Given the description of an element on the screen output the (x, y) to click on. 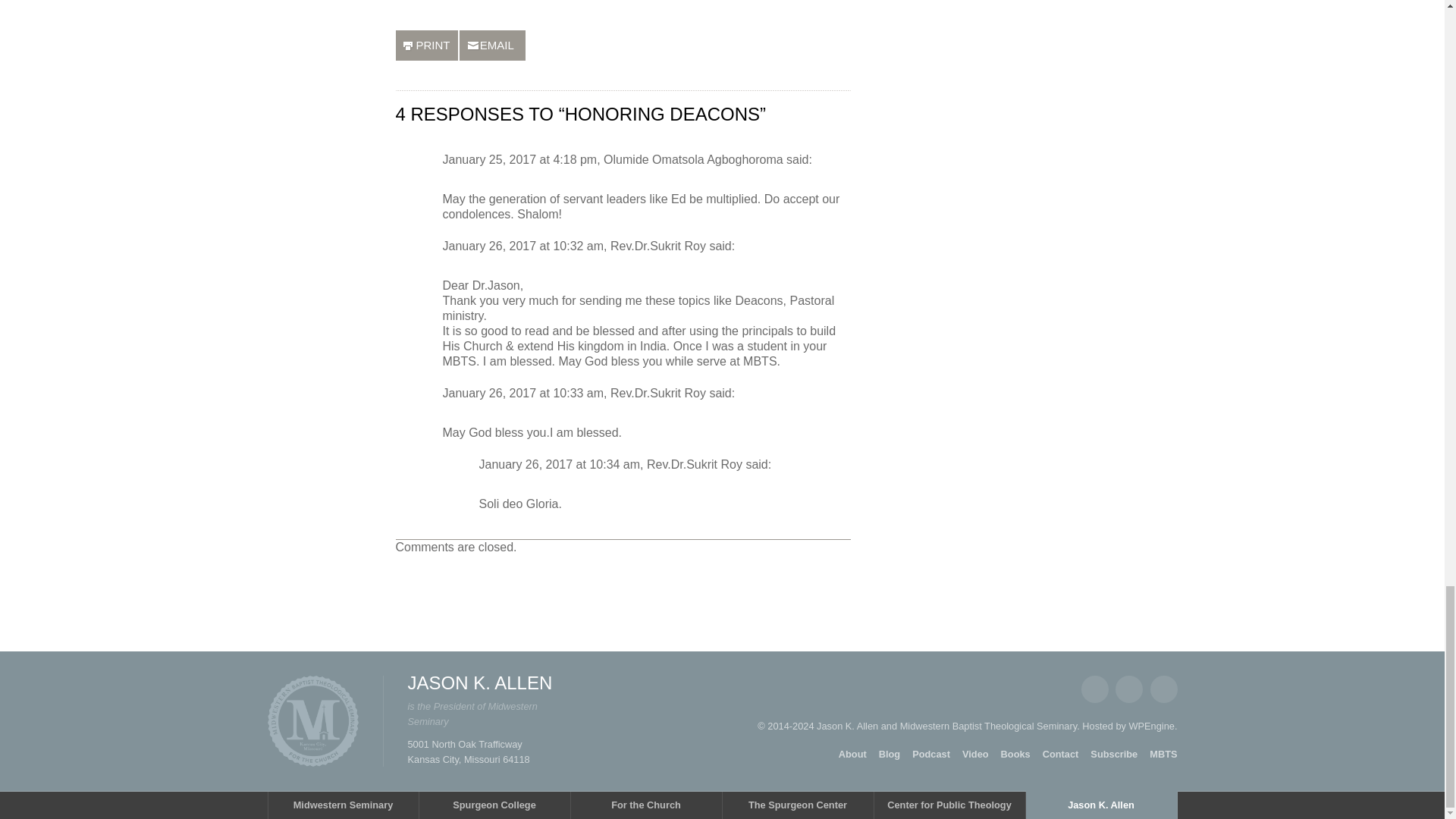
Facebook (1094, 688)
Email (1163, 688)
Blog (889, 754)
Printer Friendly and PDF (427, 45)
Books (1015, 754)
January 26, 2017 at 10:33 am (523, 392)
Contact (1060, 754)
Video (975, 754)
Subscribe (1113, 754)
MBTS (1163, 754)
